Given the description of an element on the screen output the (x, y) to click on. 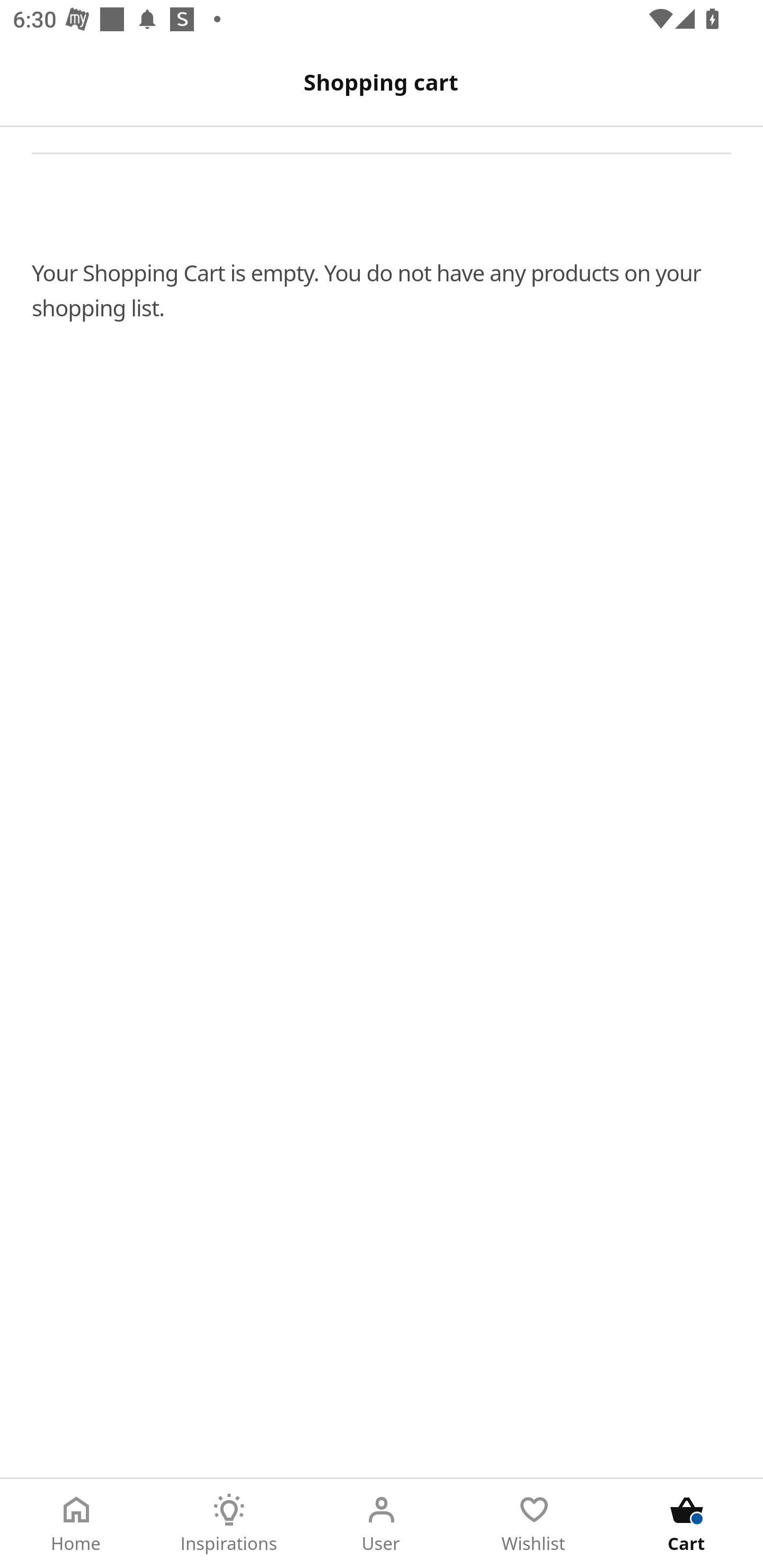
Home
Tab 1 of 5 (76, 1522)
Inspirations
Tab 2 of 5 (228, 1522)
User
Tab 3 of 5 (381, 1522)
Wishlist
Tab 4 of 5 (533, 1522)
Cart
Tab 5 of 5 (686, 1522)
